Given the description of an element on the screen output the (x, y) to click on. 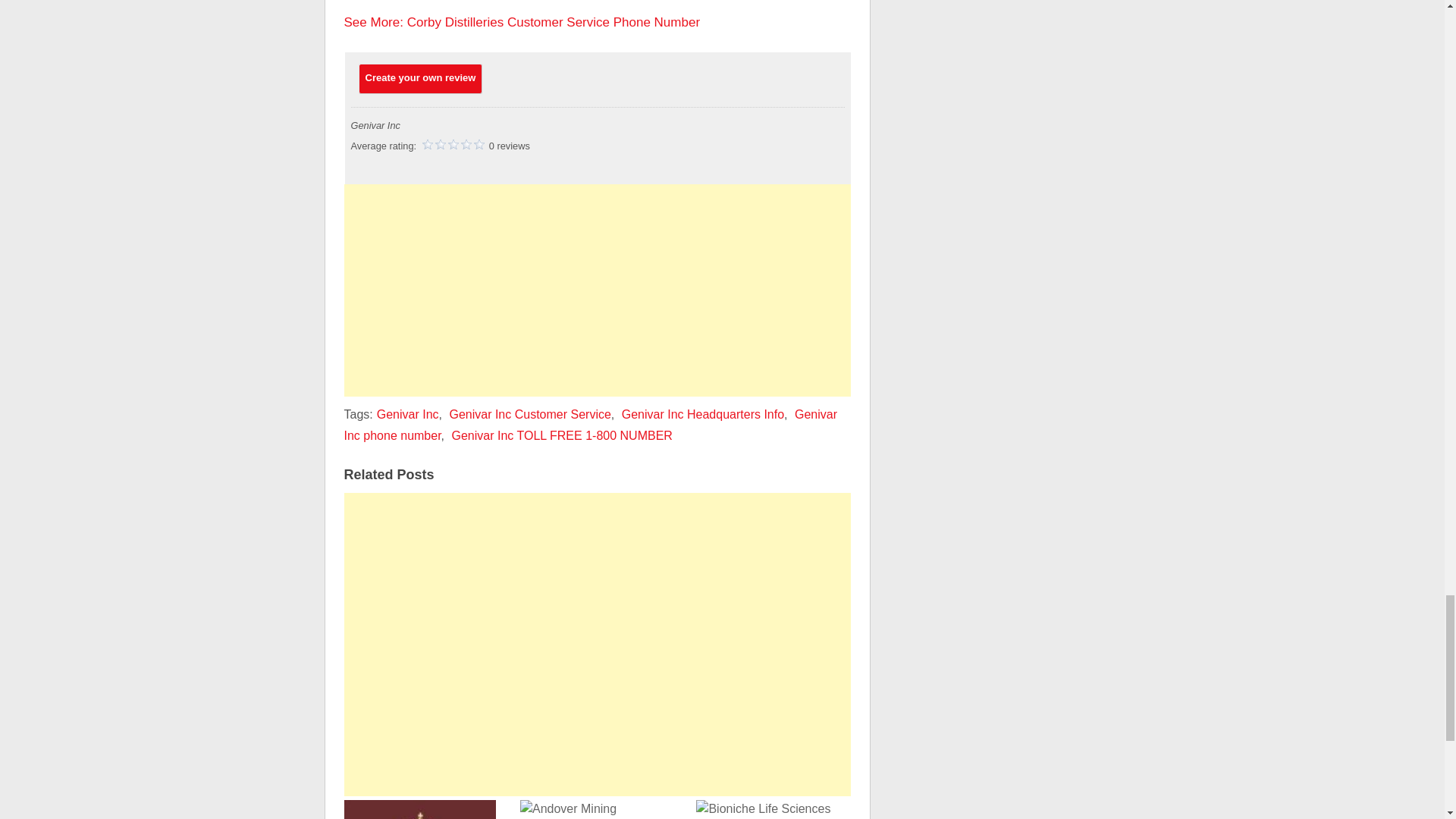
Genivar Inc TOLL FREE 1-800 NUMBER (561, 435)
Genivar Inc phone number (590, 424)
CIBT Education Group Customer Service Phone Number (419, 807)
CIBT Education Group Customer Service Phone Number (419, 807)
Genivar Inc Headquarters Info (702, 413)
See More: Corby Distilleries Customer Service Phone Number (521, 22)
Genivar Inc (408, 413)
Genivar Inc Customer Service (529, 413)
Bioniche Life Sciences Customer Service Phone Number (771, 807)
Andover Mining Customer Service Phone Numbers (595, 807)
Andover Mining Customer Service Phone Numbers (595, 807)
